Given the description of an element on the screen output the (x, y) to click on. 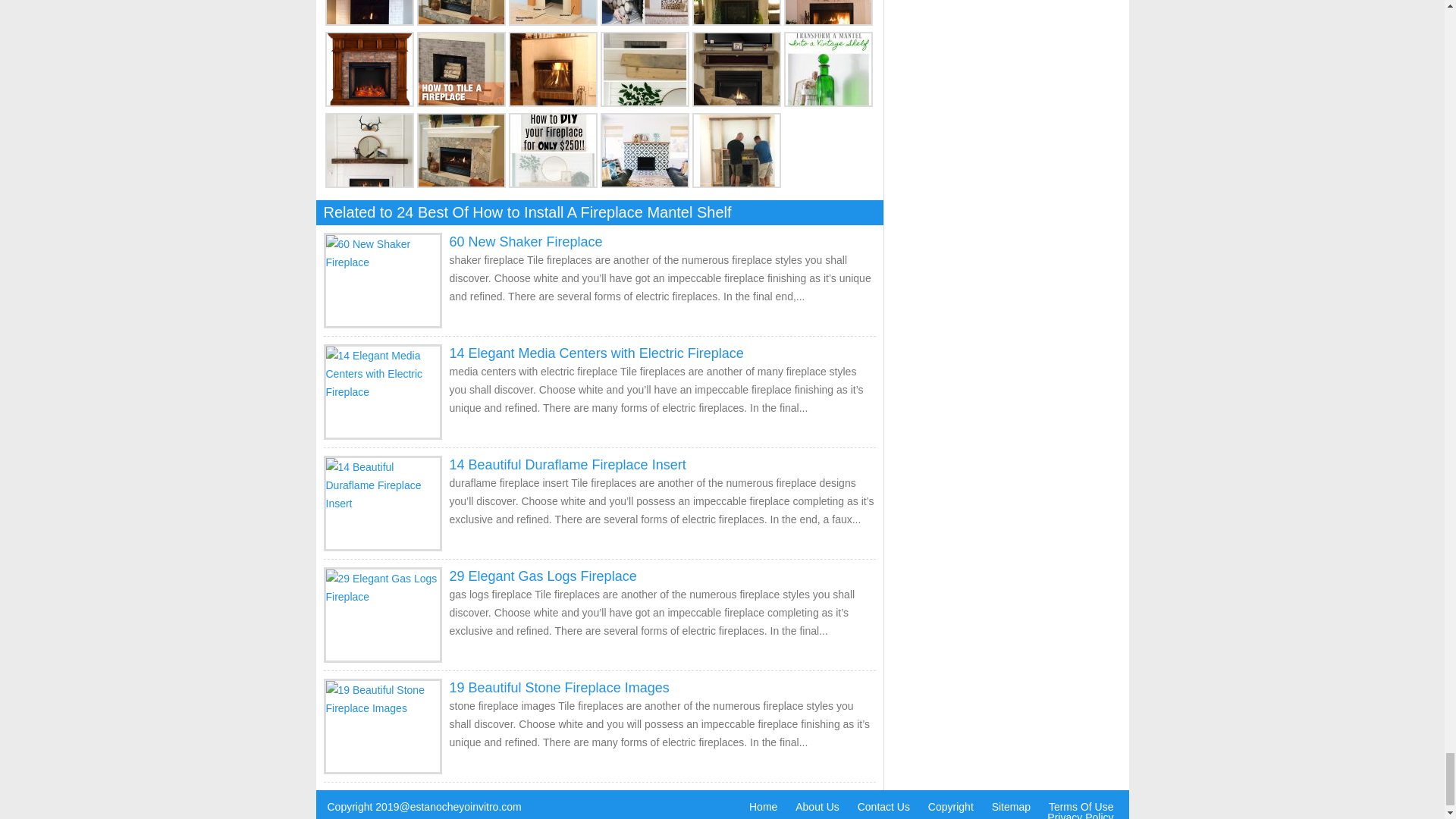
60 New Shaker Fireplace (525, 241)
